Given the description of an element on the screen output the (x, y) to click on. 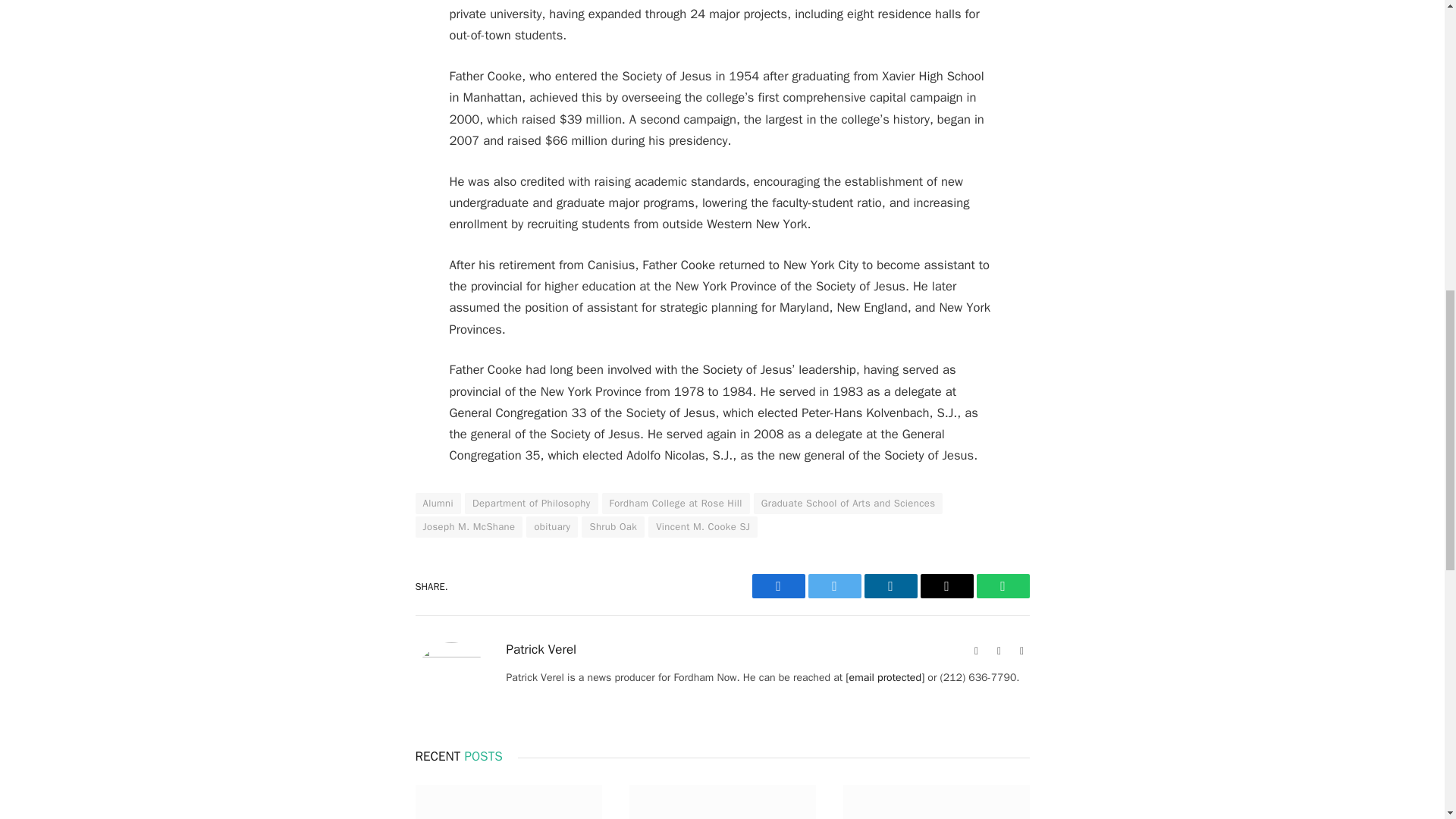
Why Are Fewer Men Becoming Priests? (508, 801)
Alumni (437, 503)
Share on WhatsApp (1002, 586)
Website (976, 651)
Bridging Art and Entrepreneurship (721, 801)
Share via Email (947, 586)
Posts by Patrick Verel (541, 649)
Share on LinkedIn (890, 586)
Facebook (999, 651)
Share on Facebook (778, 586)
